Given the description of an element on the screen output the (x, y) to click on. 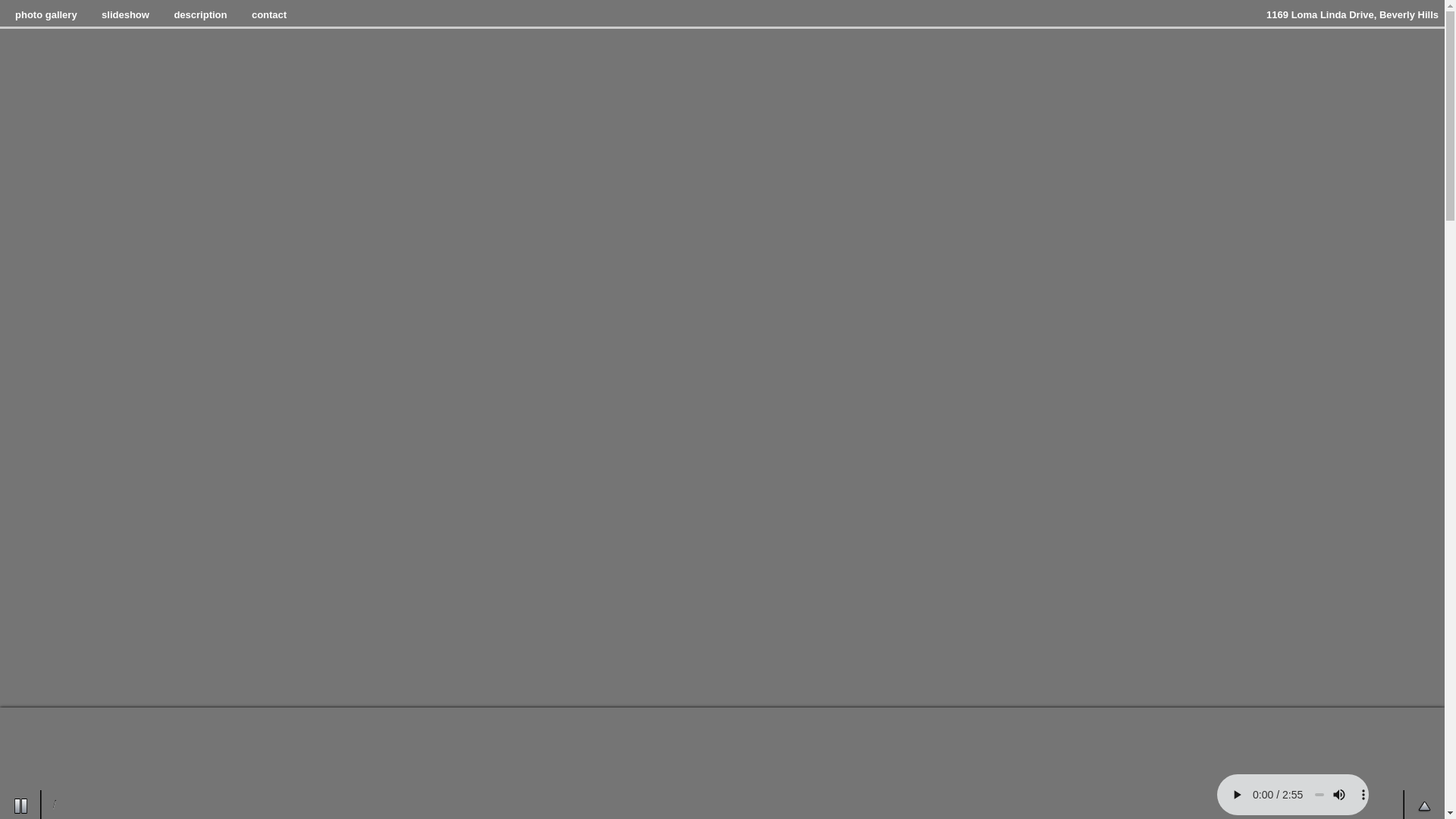
slideshow Element type: text (125, 15)
photo gallery Element type: text (46, 15)
description Element type: text (199, 15)
contact Element type: text (268, 15)
